Given the description of an element on the screen output the (x, y) to click on. 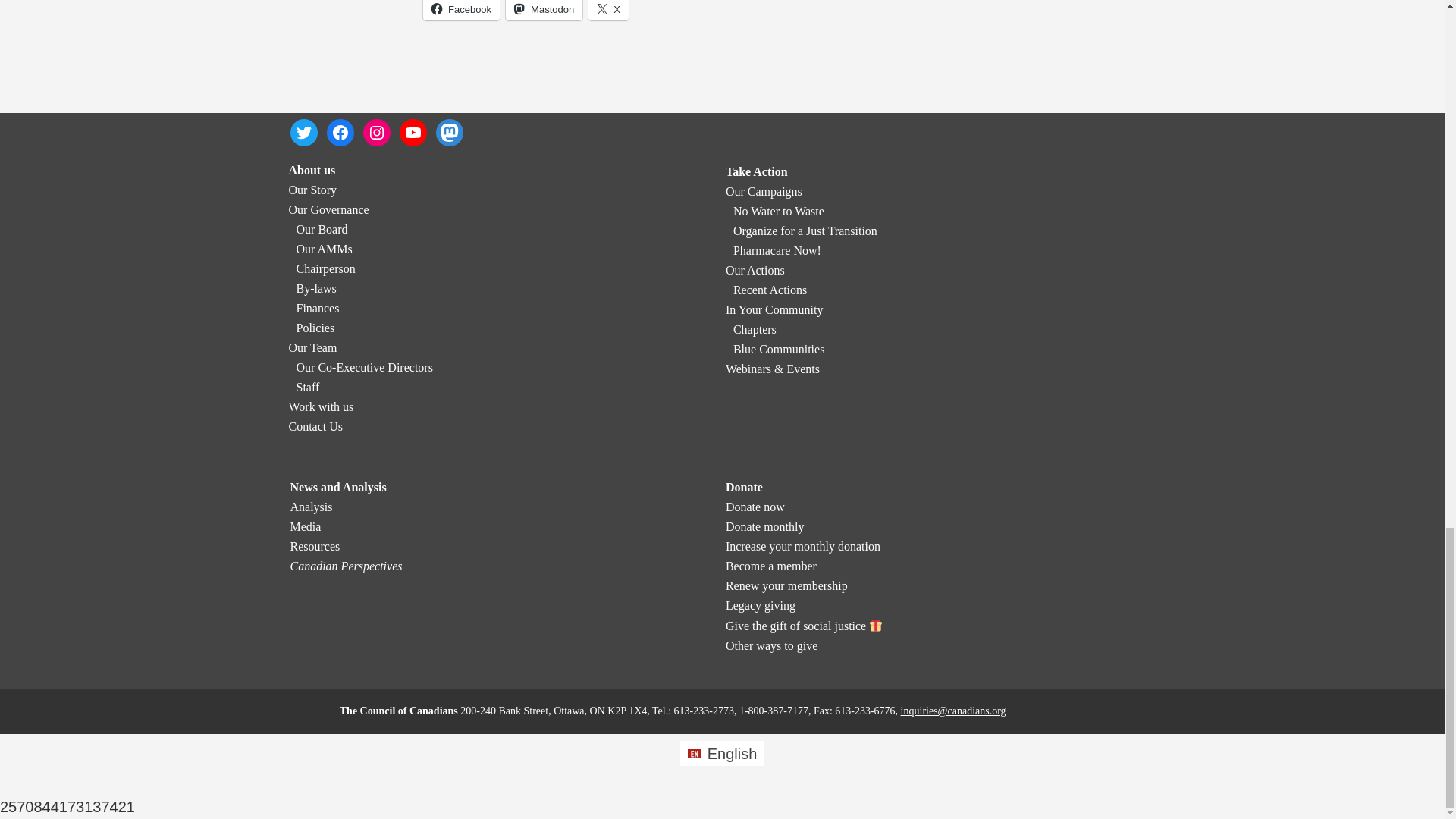
Our Governance (328, 209)
Click to share on Facebook (461, 10)
Our Story (312, 189)
Our Board (321, 228)
Our AMMs (323, 248)
Click to share on X (608, 10)
Facebook (461, 10)
Click to share on Mastodon (543, 10)
X (608, 10)
Mastodon (543, 10)
By-laws (315, 287)
About us (311, 169)
Chairperson (325, 268)
